Given the description of an element on the screen output the (x, y) to click on. 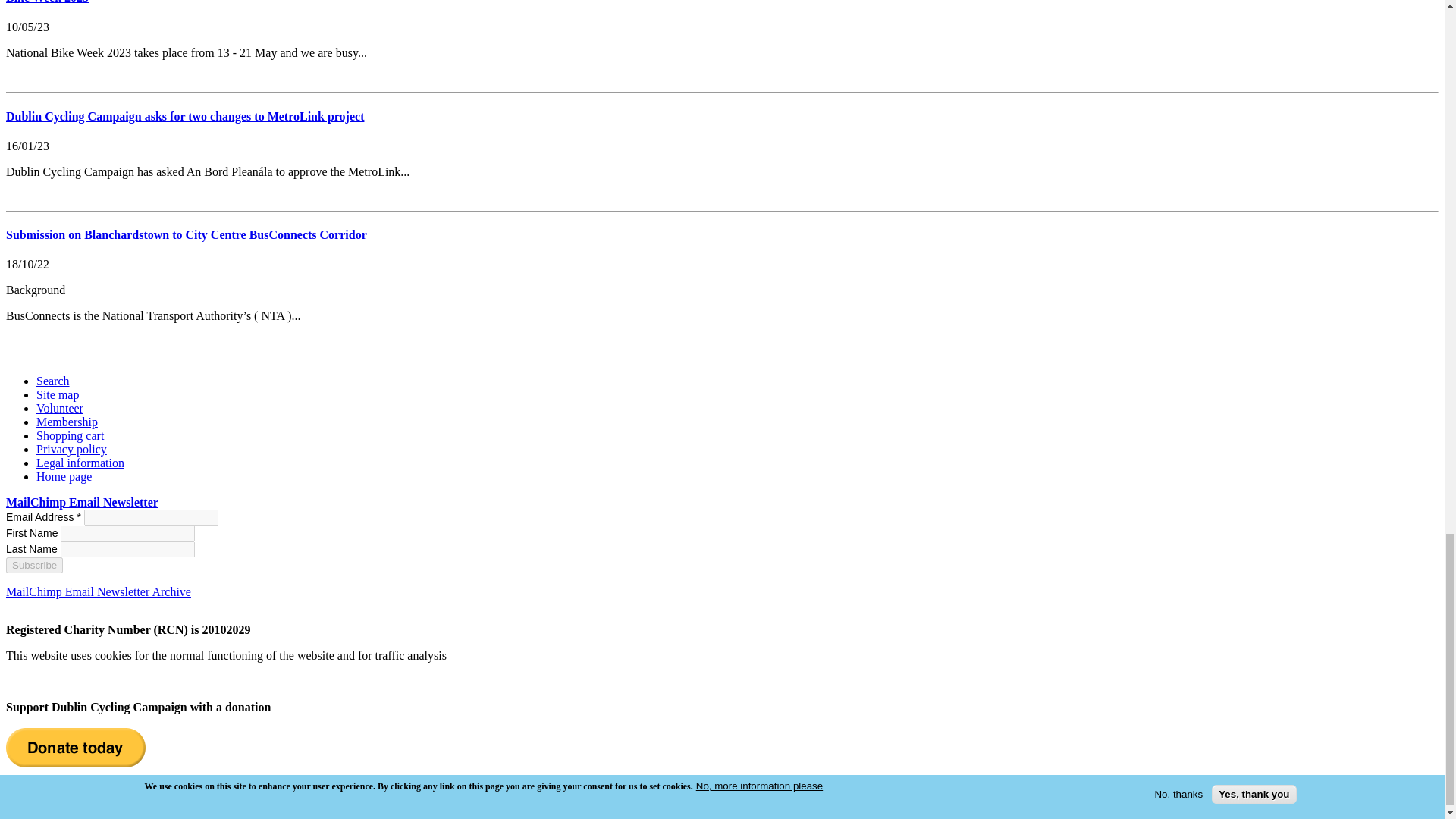
Bike Week 2023 (46, 2)
Search (52, 380)
Site map (57, 394)
Volunteer (59, 408)
Shopping cart (69, 435)
Subscribe (33, 565)
Website site map (57, 394)
Membership (66, 421)
Privacy policy (71, 449)
